Given the description of an element on the screen output the (x, y) to click on. 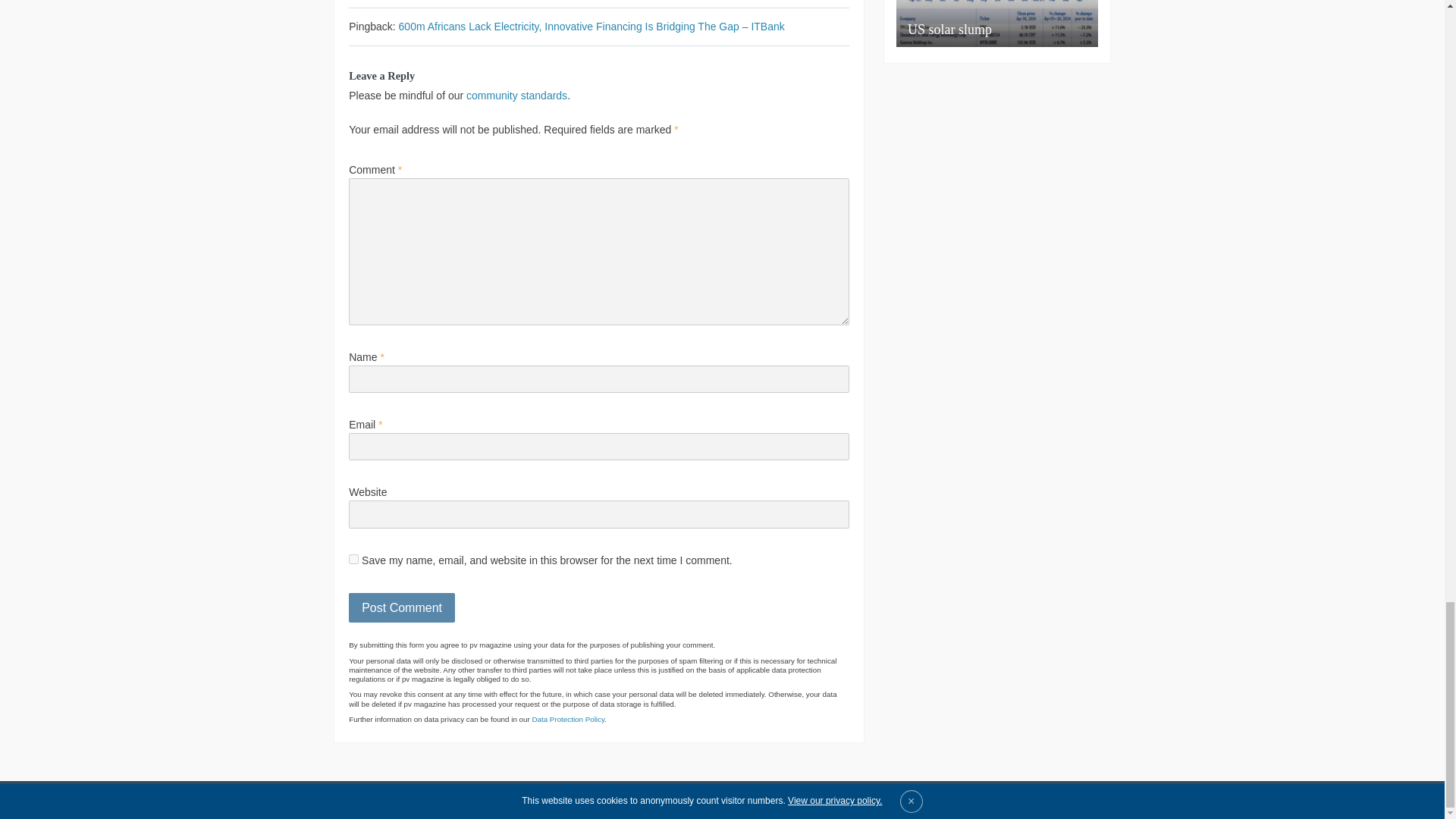
yes (353, 559)
Post Comment (401, 607)
